Given the description of an element on the screen output the (x, y) to click on. 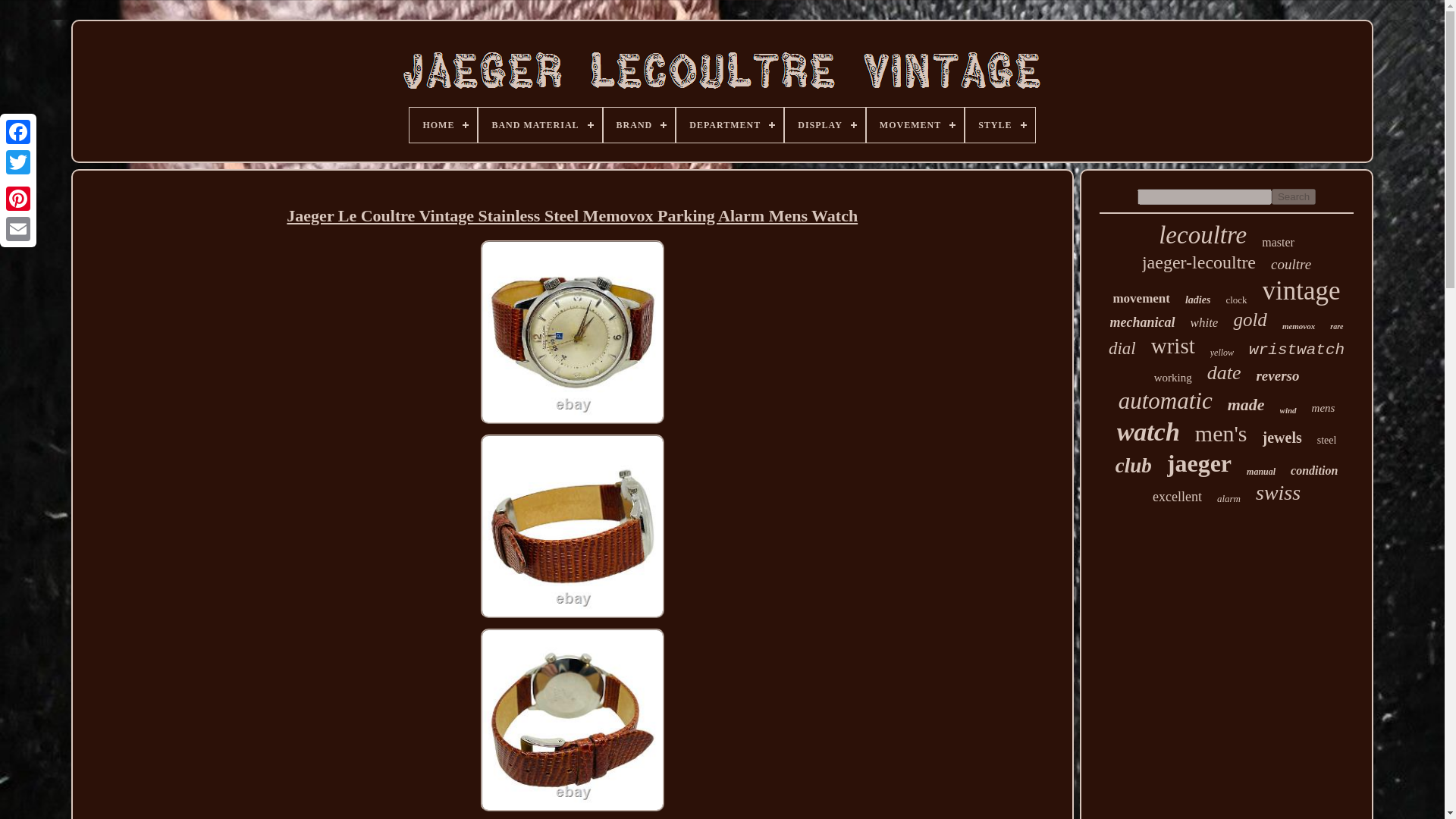
BRAND (639, 124)
Search (1293, 196)
HOME (443, 124)
BAND MATERIAL (540, 124)
